Given the description of an element on the screen output the (x, y) to click on. 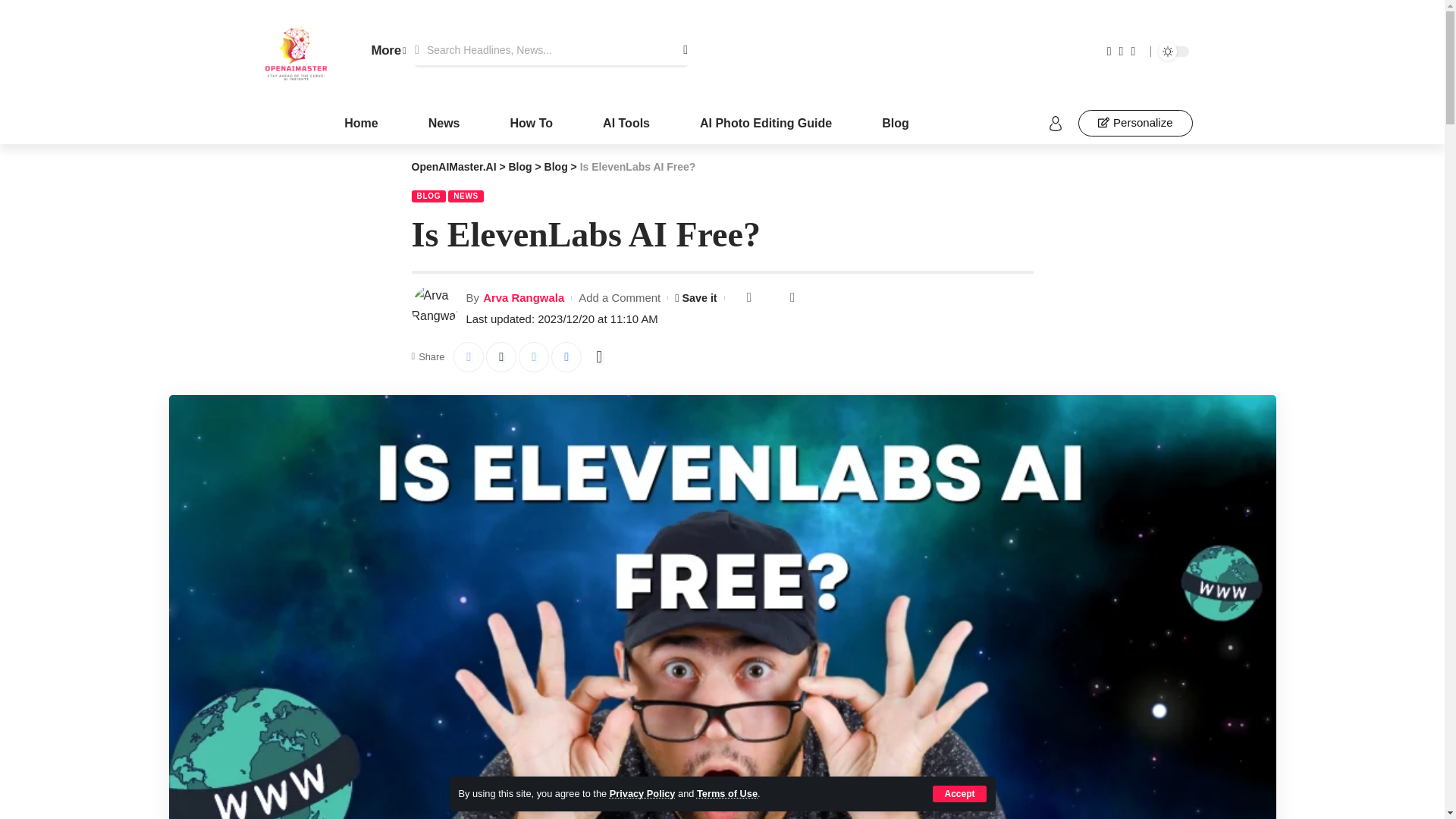
How To (531, 123)
News (444, 123)
Blog (895, 123)
AI Tools (625, 123)
Accept (959, 793)
More (388, 51)
AI Photo Editing Guide (765, 123)
Personalize (1135, 122)
Home (360, 123)
Go to Blog. (519, 166)
Go to the Blog Category archives. (555, 166)
Go to OpenAIMaster.AI. (453, 166)
Search (672, 50)
Terms of Use (727, 793)
Privacy Policy (642, 793)
